Given the description of an element on the screen output the (x, y) to click on. 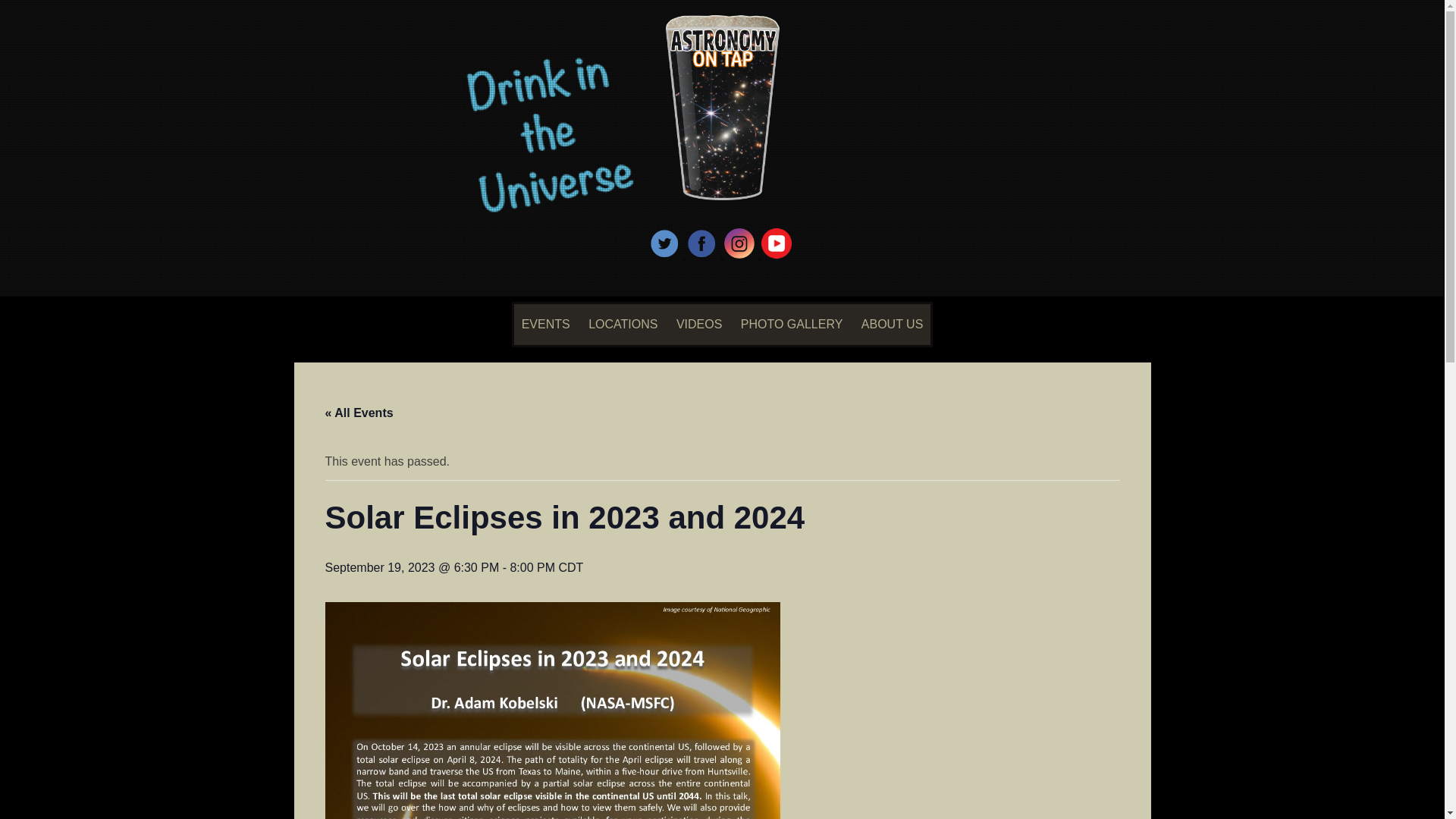
PHOTO GALLERY (791, 323)
ABOUT US (892, 323)
LOCATIONS (622, 323)
EVENTS (545, 323)
VIDEOS (698, 323)
